Given the description of an element on the screen output the (x, y) to click on. 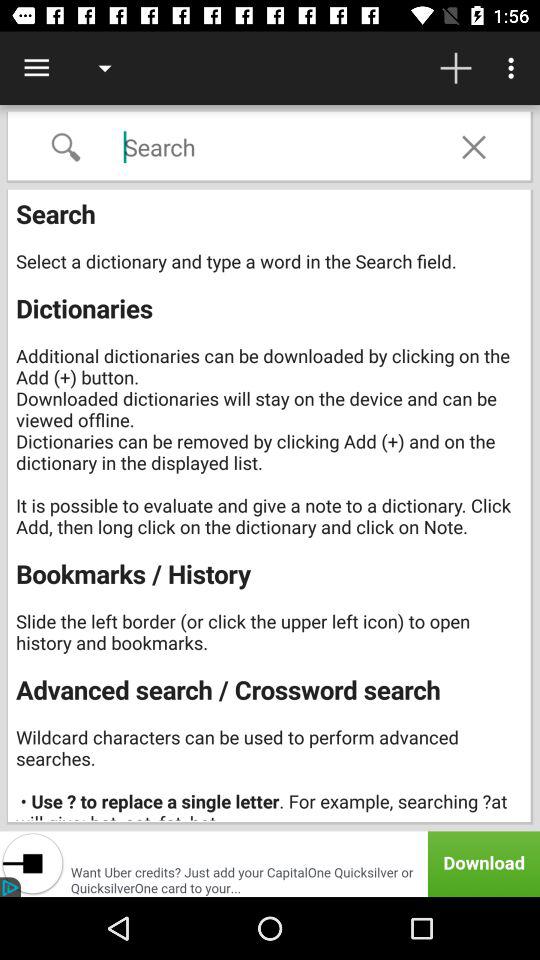
launch icon below search select a (270, 863)
